Given the description of an element on the screen output the (x, y) to click on. 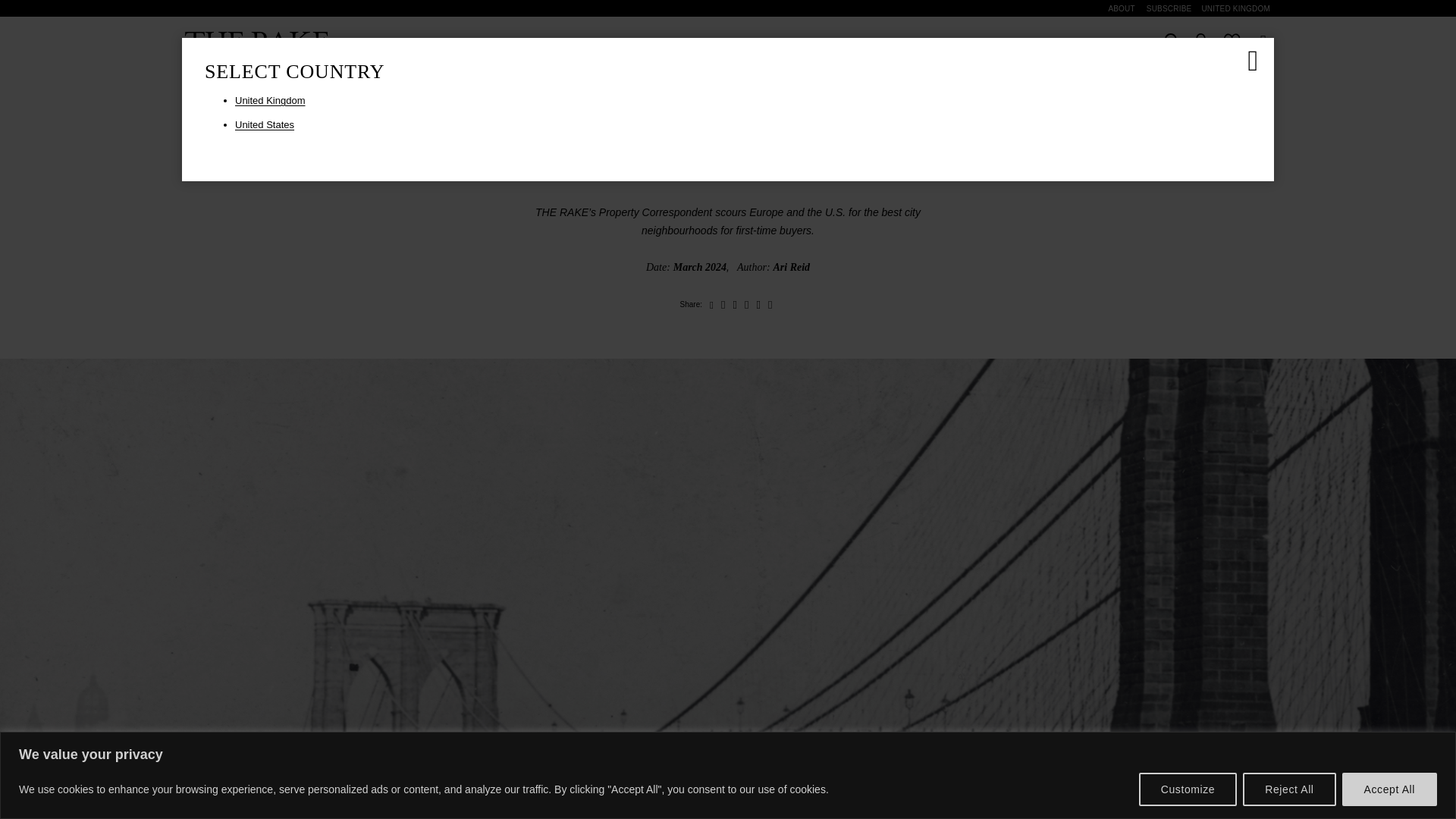
The Rake (256, 40)
SHOP (771, 41)
MAGAZINE (706, 41)
Customize (1187, 788)
ABOUT (1121, 8)
SUBSCRIBE (1169, 8)
BRANDS (830, 41)
Accept All (1389, 788)
Page 151 (727, 221)
EDITORIAL (630, 41)
Reject All (1289, 788)
